Given the description of an element on the screen output the (x, y) to click on. 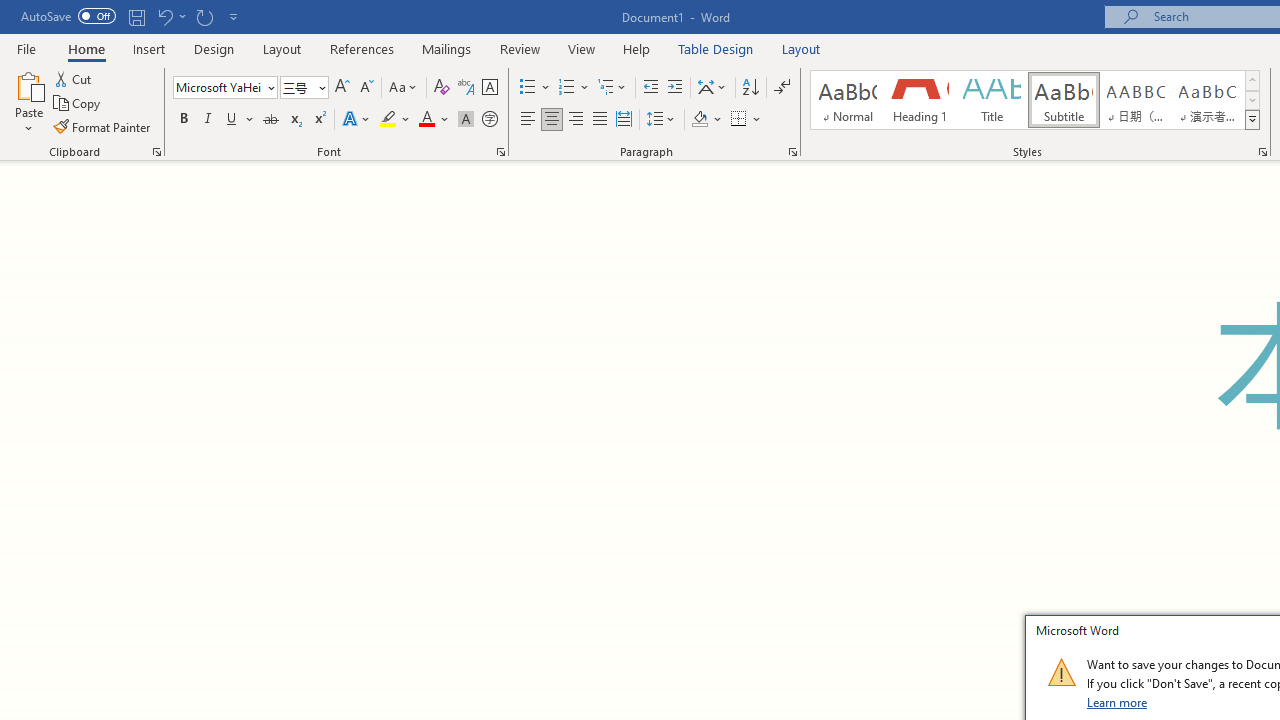
Styles... (1262, 151)
Office Clipboard... (156, 151)
Italic (207, 119)
Shrink Font (365, 87)
Grow Font (342, 87)
Subtitle (1063, 100)
Sort... (750, 87)
Shading RGB(0, 0, 0) (699, 119)
